Given the description of an element on the screen output the (x, y) to click on. 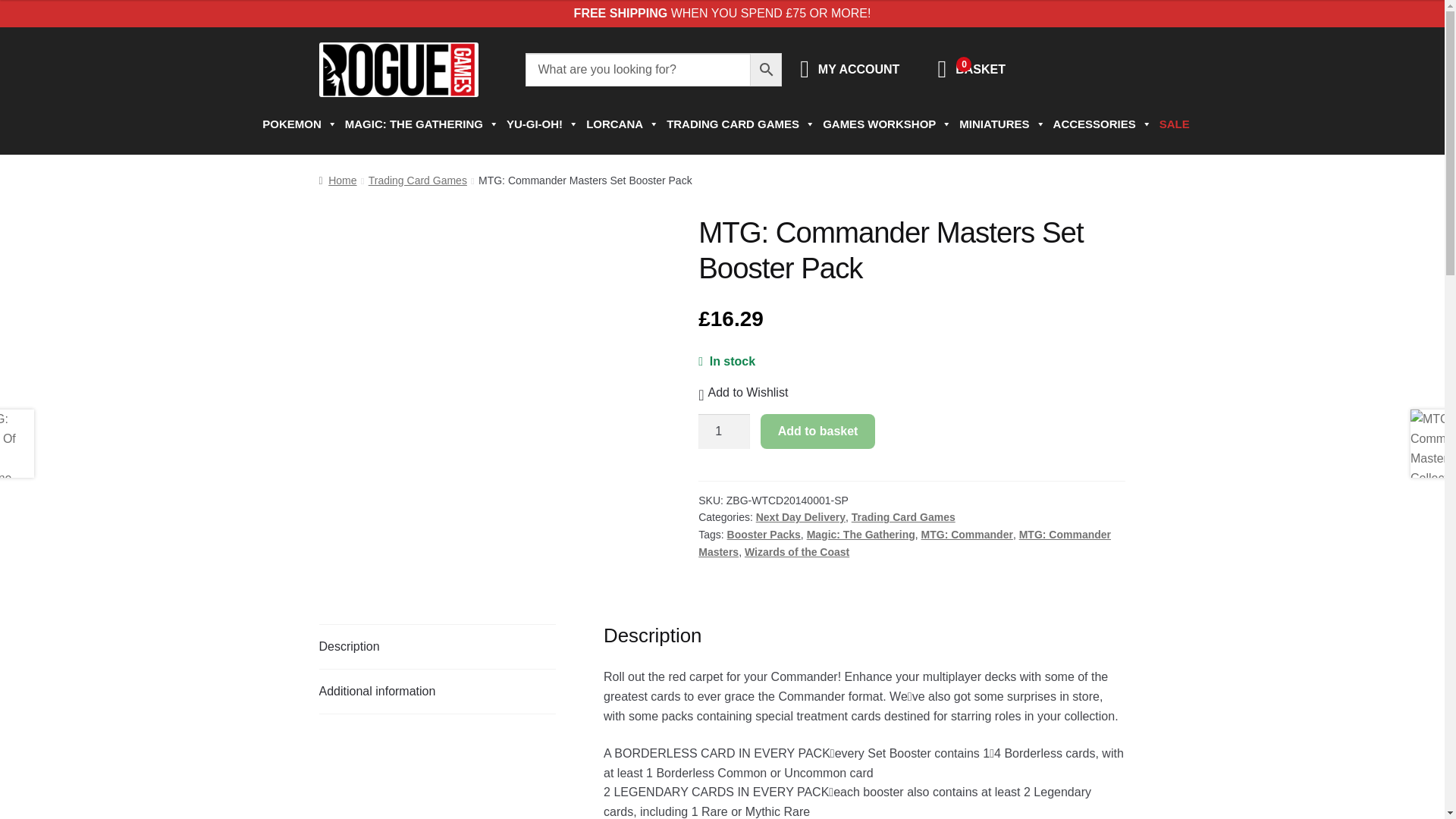
View your shopping basket (941, 72)
MAGIC: THE GATHERING (418, 123)
0 (941, 72)
1 (723, 431)
Qty (723, 431)
MY ACCOUNT (858, 69)
POKEMON (295, 123)
View your shopping basket (980, 69)
BASKET (980, 69)
